Given the description of an element on the screen output the (x, y) to click on. 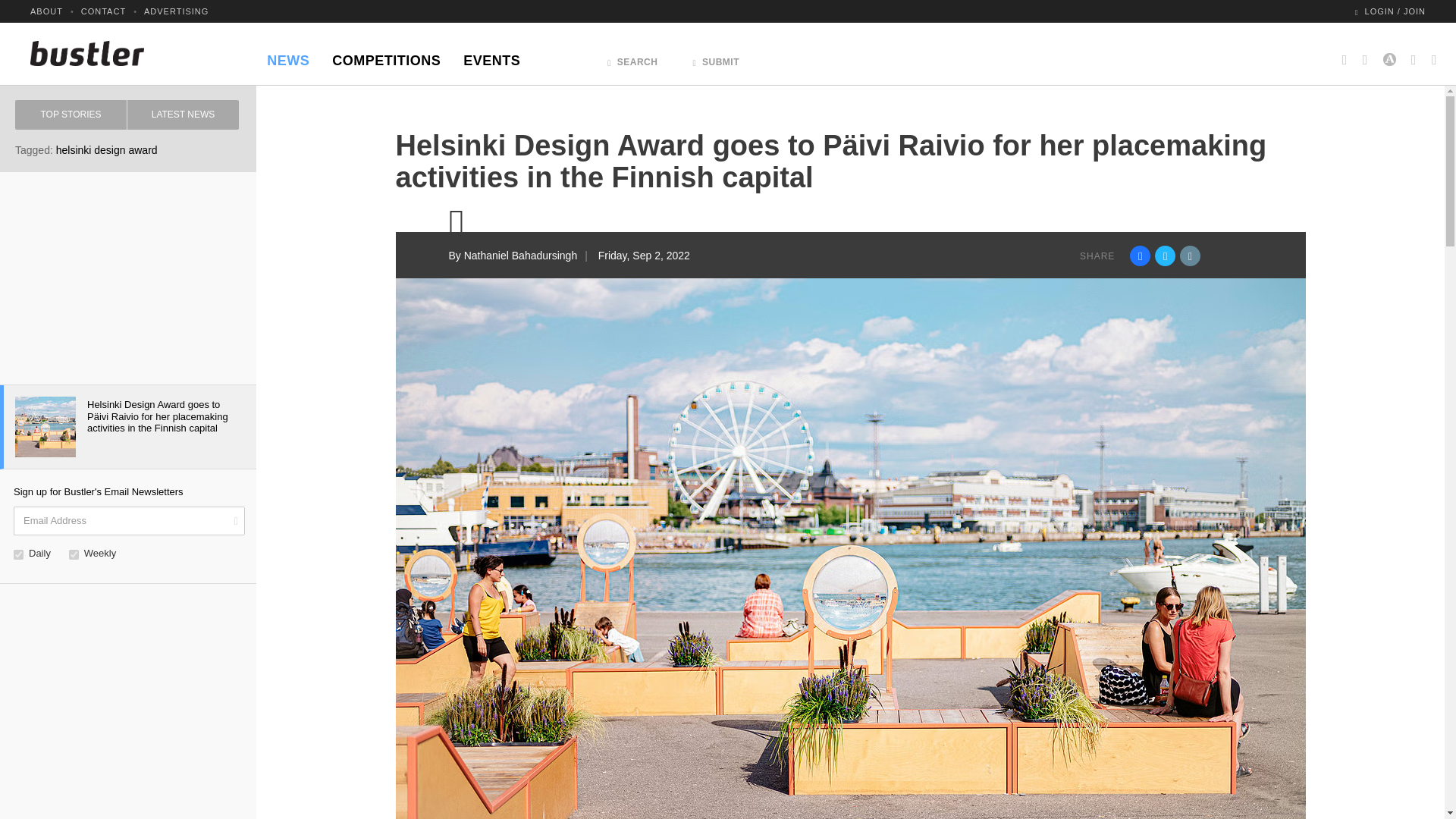
COMPETITIONS (385, 56)
NEWS (288, 56)
Bustler is powered by Archinect (1389, 53)
ABOUT (46, 10)
EVENTS (491, 56)
SUBMIT (715, 57)
ADVERTISING (176, 10)
SEARCH (632, 57)
CONTACT (103, 10)
